Given the description of an element on the screen output the (x, y) to click on. 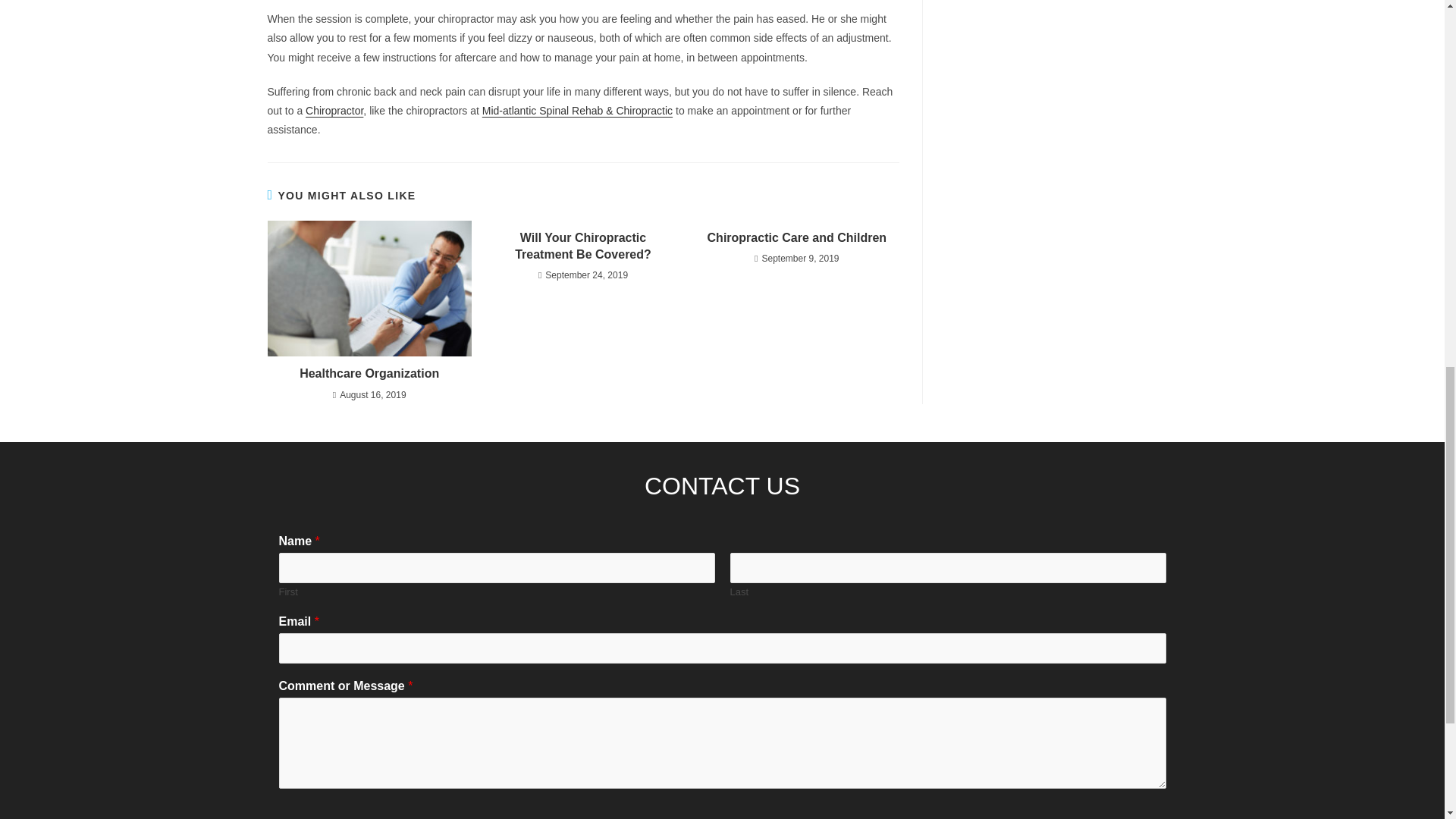
Chiropractic Care and Children (796, 238)
Healthcare Organization (368, 373)
Will Your Chiropractic Treatment Be Covered? (582, 246)
Chiropractor (333, 110)
